Given the description of an element on the screen output the (x, y) to click on. 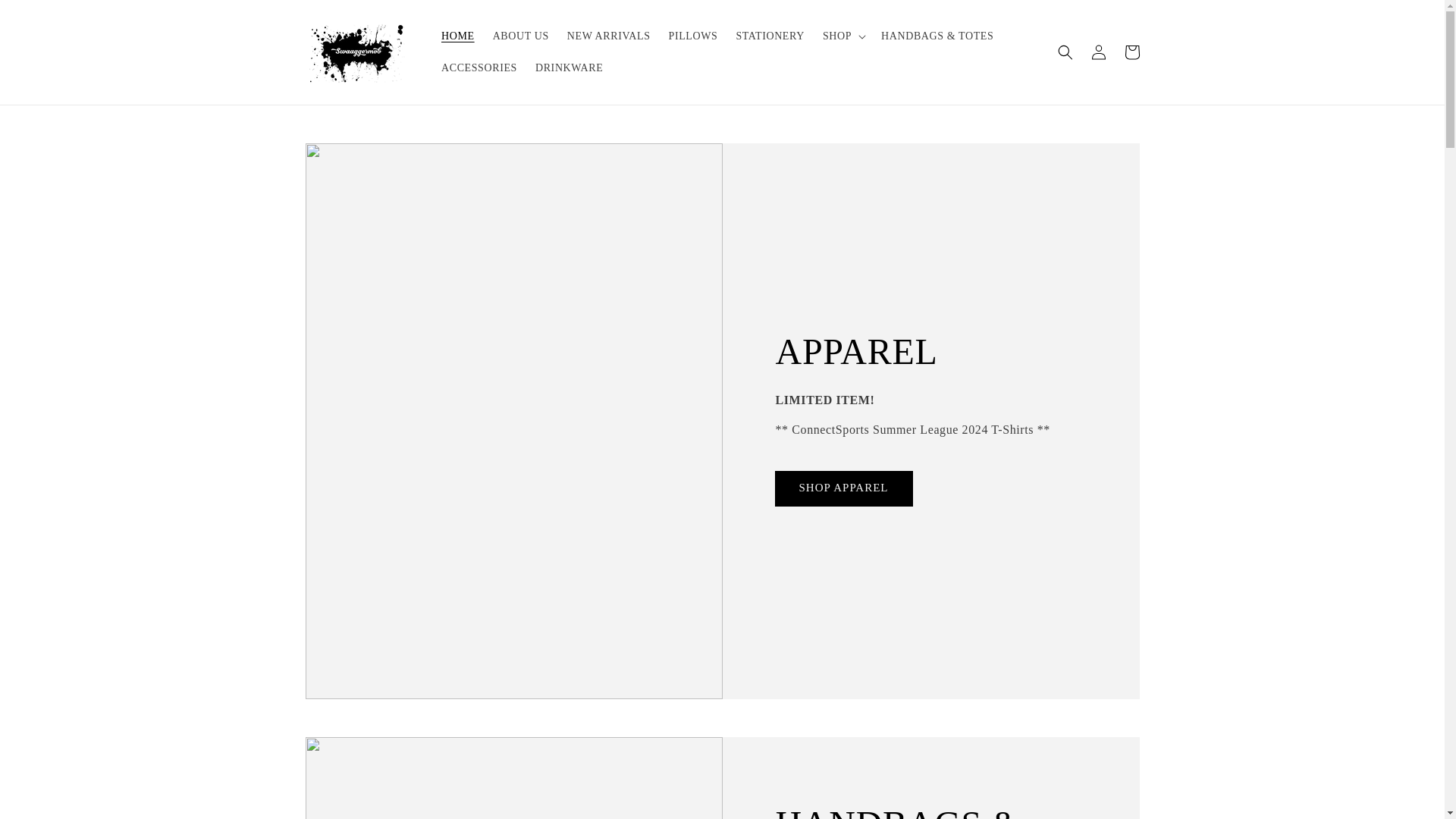
DRINKWARE (568, 68)
HOME (457, 36)
ABOUT US (520, 36)
NEW ARRIVALS (608, 36)
Cart (1131, 52)
STATIONERY (769, 36)
PILLOWS (692, 36)
Log in (1098, 52)
ACCESSORIES (478, 68)
Skip to content (45, 16)
